Given the description of an element on the screen output the (x, y) to click on. 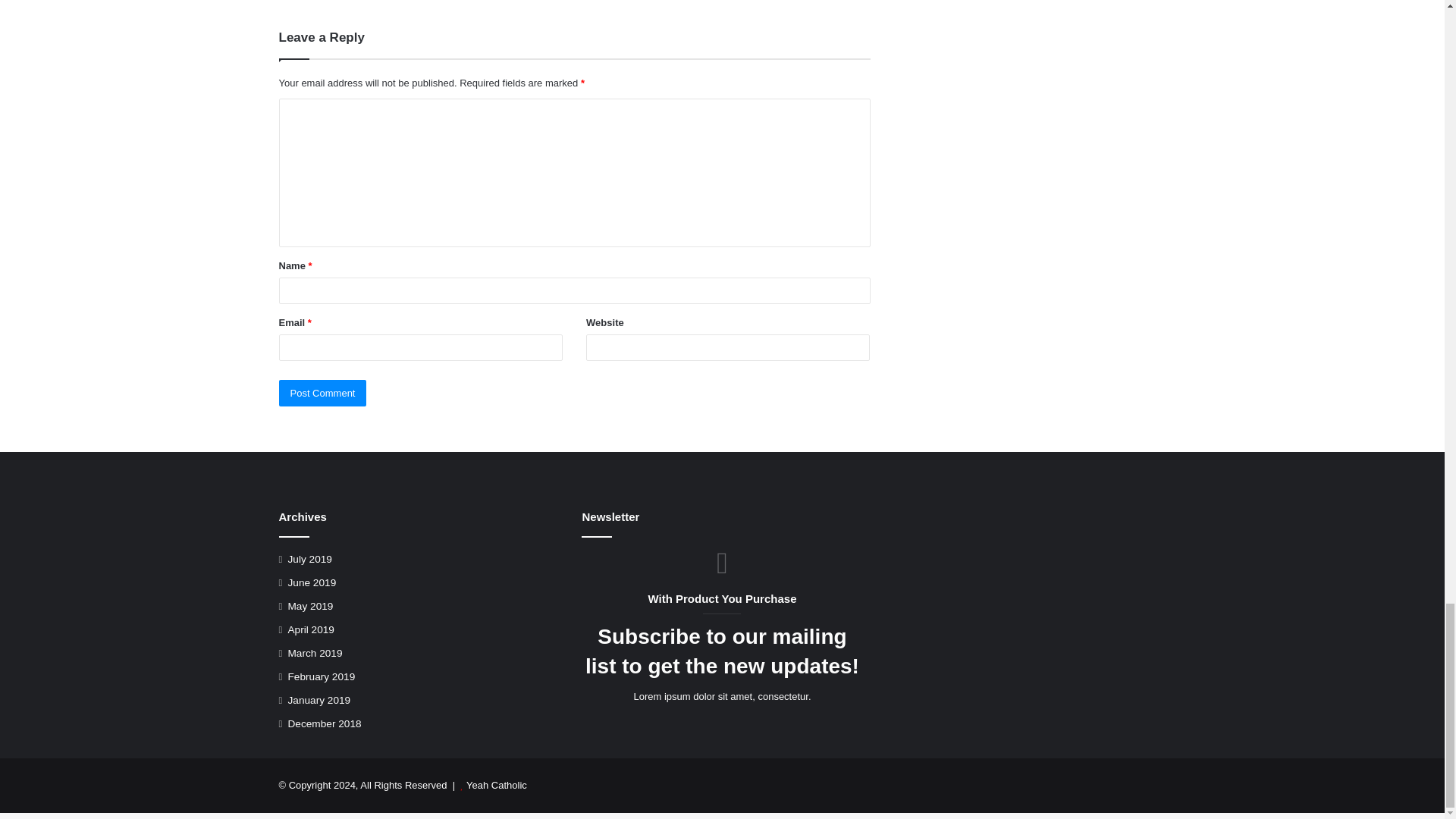
Post Comment (322, 393)
